Given the description of an element on the screen output the (x, y) to click on. 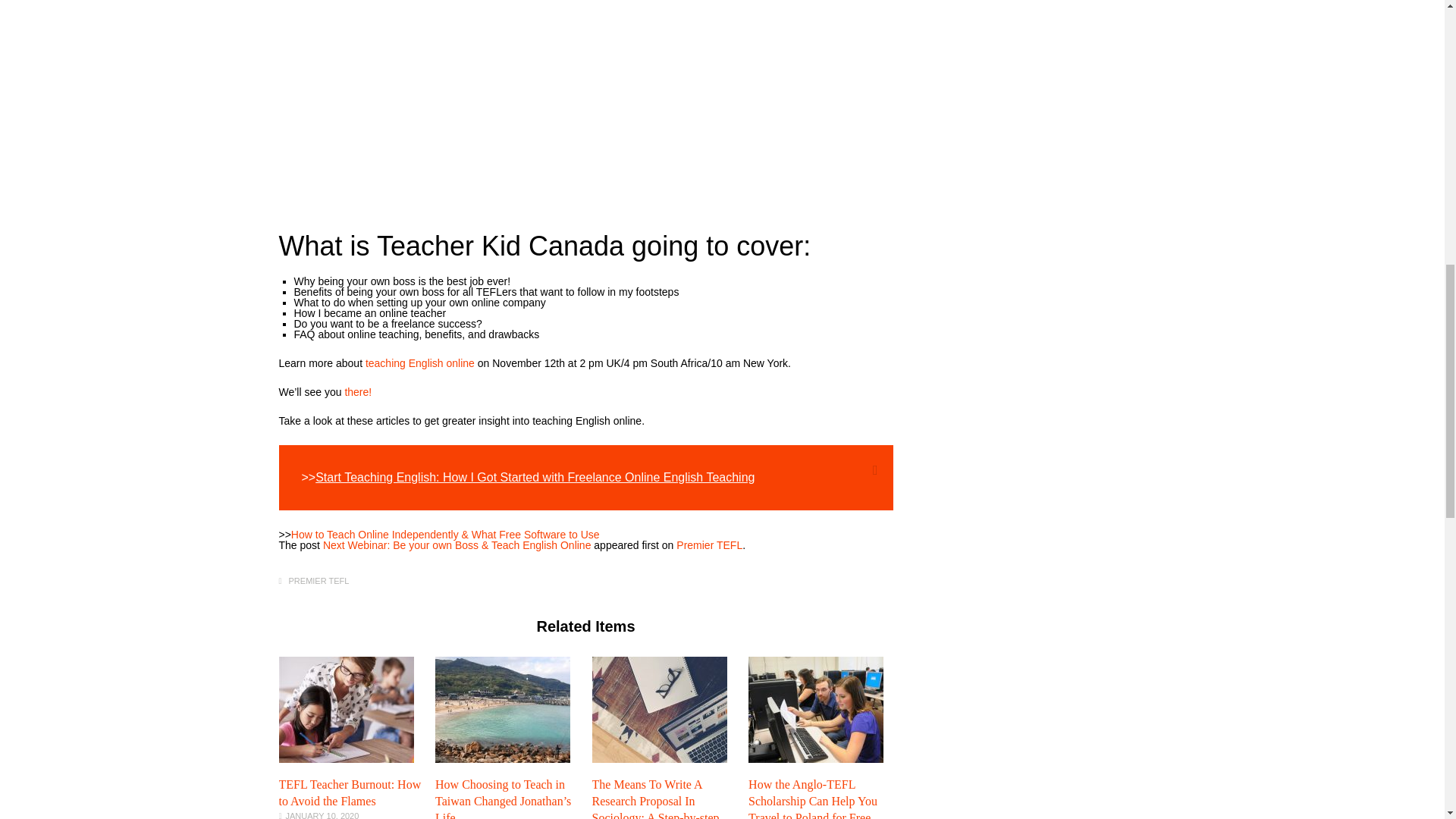
PREMIER TEFL (318, 581)
there! (357, 391)
Premier TEFL (709, 544)
teaching English online (419, 363)
TEFL Teacher Burnout: How to Avoid the Flames (350, 792)
TEFL Teacher Burnout: How to Avoid the Flames (346, 758)
TEFL Teacher Burnout: How to Avoid the Flames (350, 792)
